Given the description of an element on the screen output the (x, y) to click on. 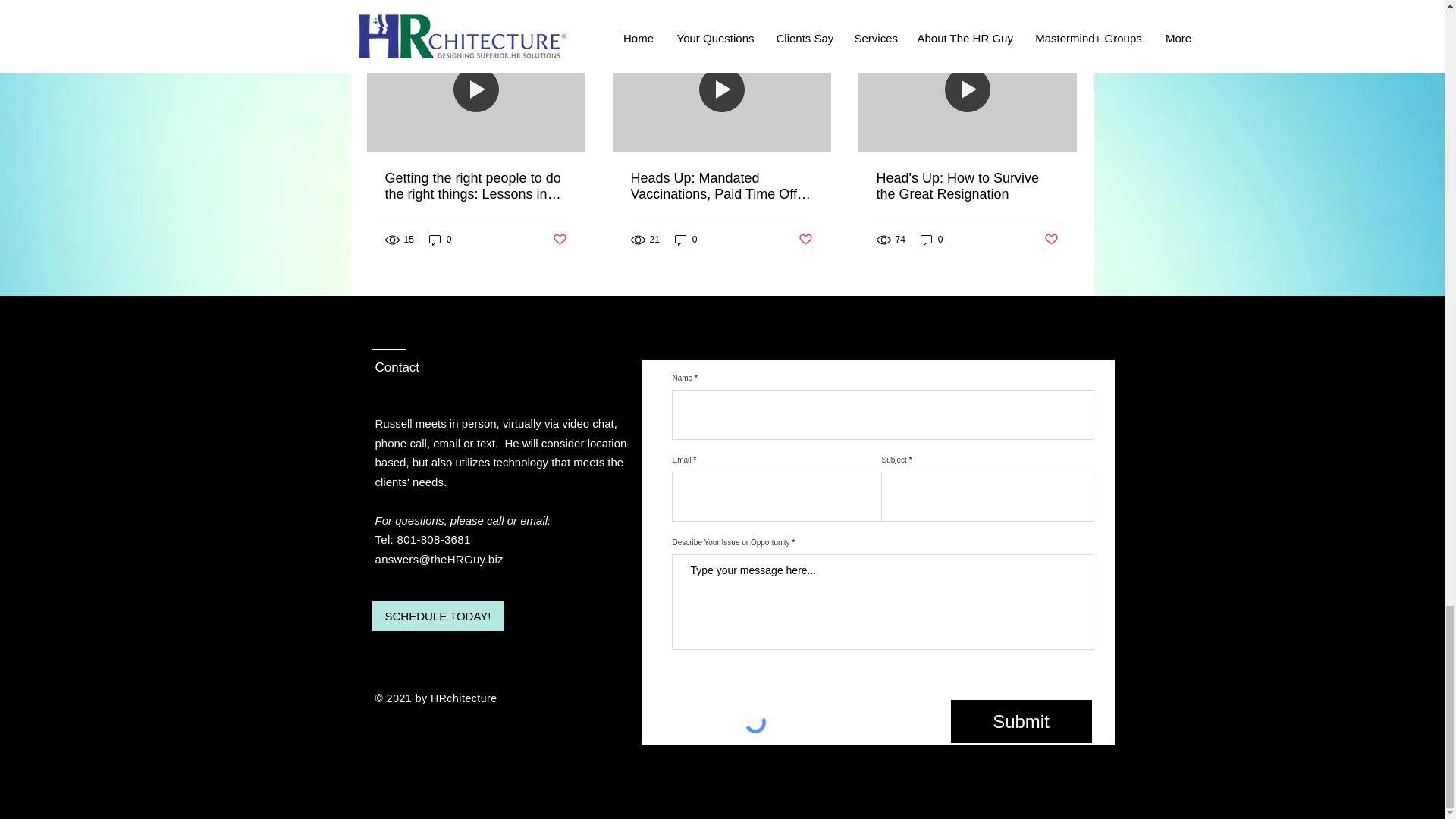
Post not marked as liked (558, 239)
Post not marked as liked (804, 239)
0 (440, 239)
SCHEDULE TODAY! (437, 615)
0 (685, 239)
Submit (1021, 721)
0 (931, 239)
Post not marked as liked (1050, 239)
Head's Up: How to Survive the Great Resignation (967, 186)
See All (1061, 6)
